Given the description of an element on the screen output the (x, y) to click on. 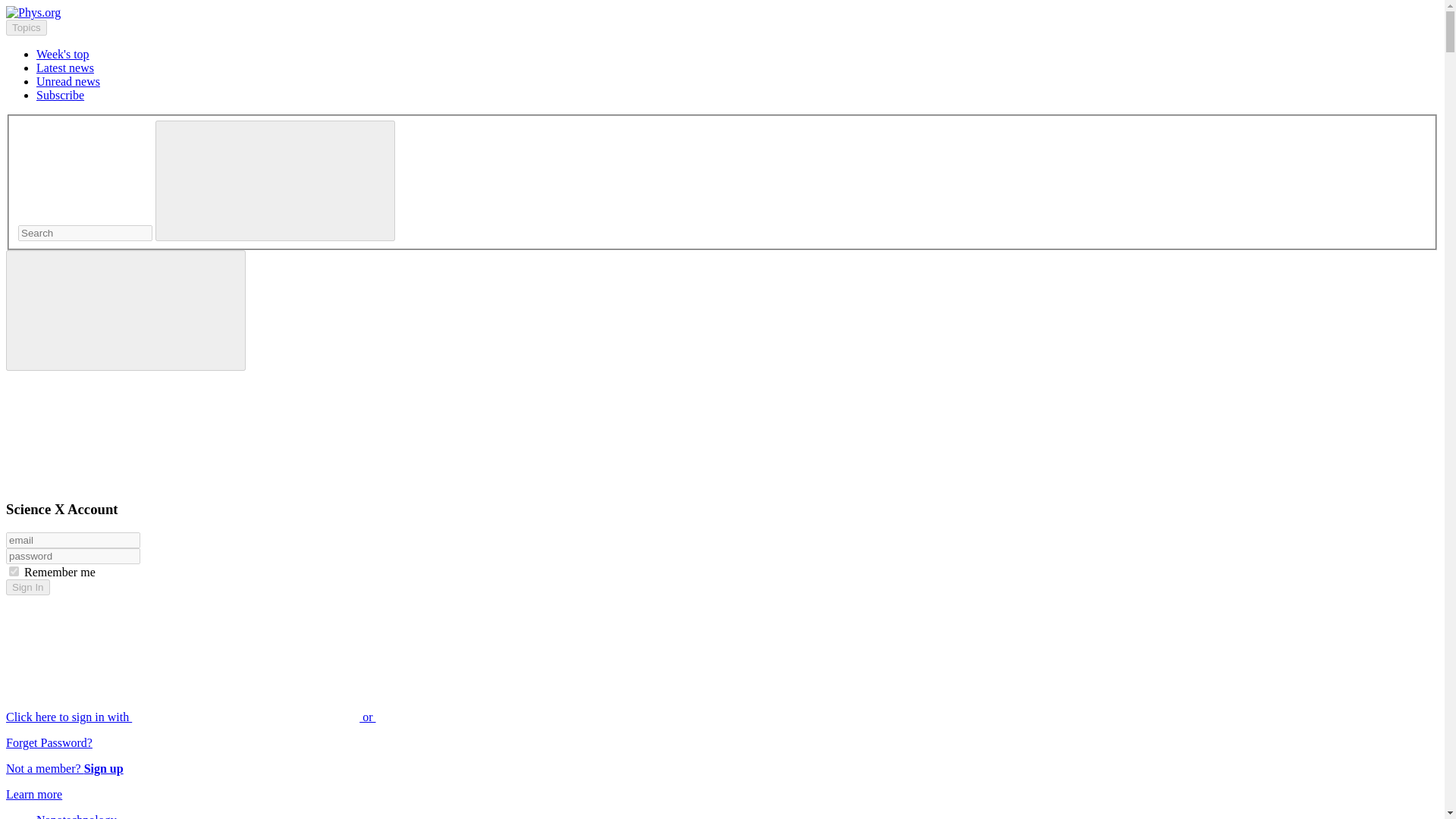
Subscribe (60, 94)
Week's top (62, 53)
Nanotechnology (76, 816)
Topics (25, 27)
on (13, 571)
Unread news (68, 81)
Click here to sign in with or (304, 716)
Sign In (27, 587)
Forget Password? (49, 742)
Not a member? Sign up (64, 768)
